Given the description of an element on the screen output the (x, y) to click on. 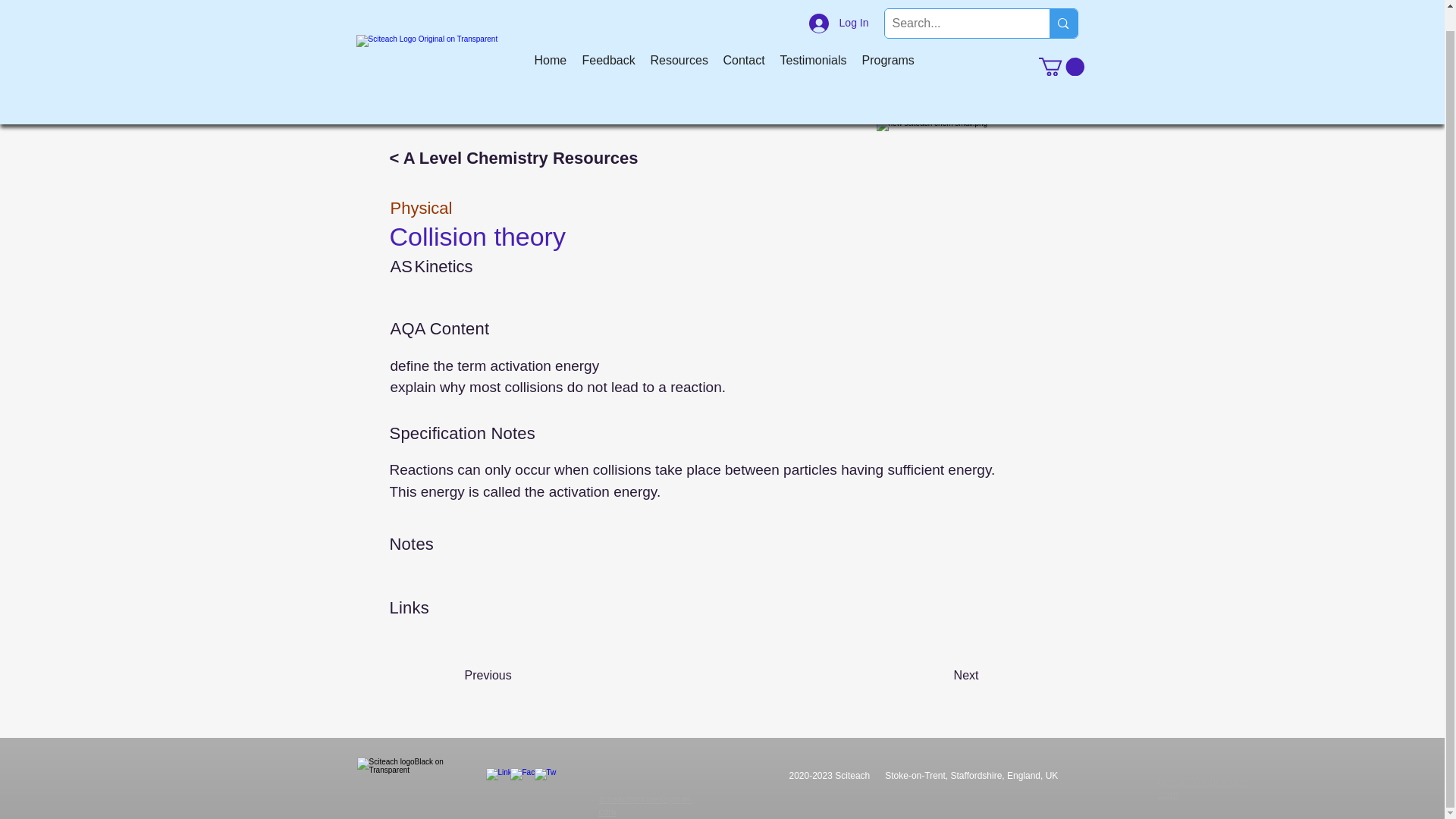
Resources (679, 39)
Programs (887, 39)
Home (549, 39)
Feedback (609, 39)
Previous (514, 675)
Contact (744, 39)
Next (940, 675)
Log In (838, 8)
Testimonials (812, 39)
